Given the description of an element on the screen output the (x, y) to click on. 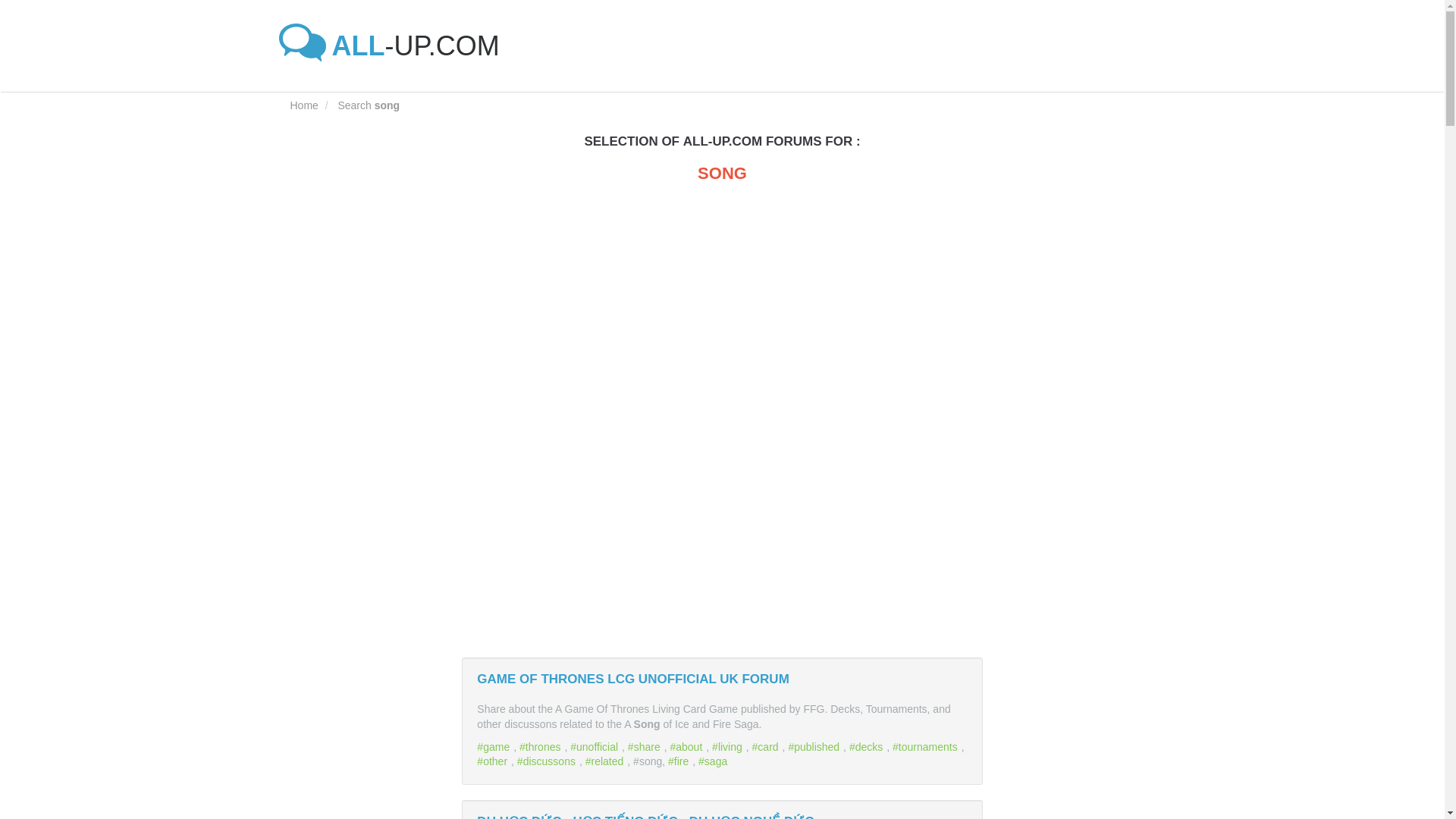
ALL-UP.COM (395, 45)
share (645, 746)
tournaments (926, 746)
discussons (547, 761)
share (645, 746)
unofficial (595, 746)
about (687, 746)
game (495, 746)
Home (303, 105)
discussons (547, 761)
tournaments (926, 746)
decks (867, 746)
decks (867, 746)
unofficial (595, 746)
fire (680, 761)
